Given the description of an element on the screen output the (x, y) to click on. 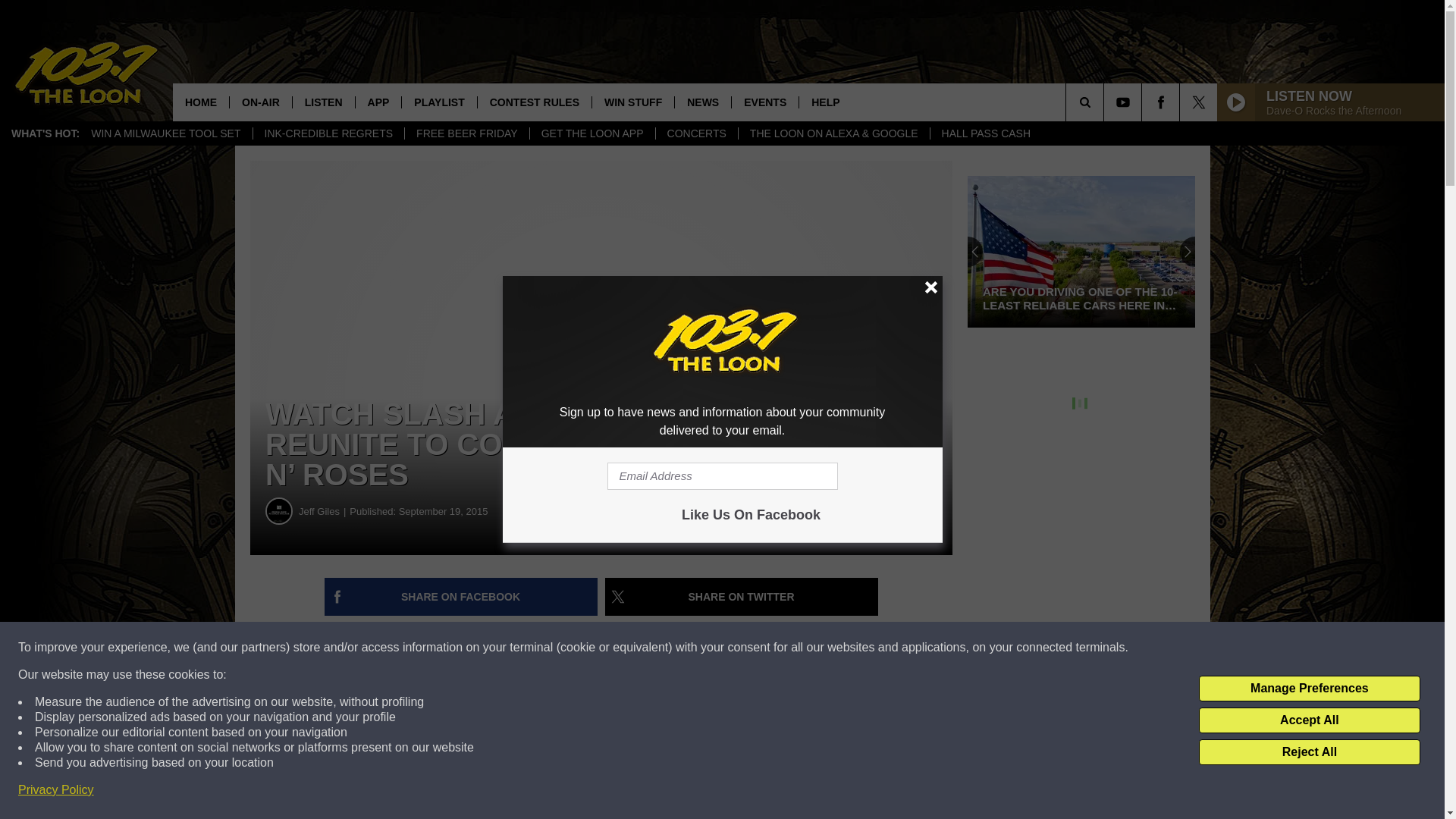
Share on Twitter (741, 596)
HALL PASS CASH (986, 133)
ON-AIR (260, 102)
Manage Preferences (1309, 688)
Reject All (1309, 751)
WIN A MILWAUKEE TOOL SET (165, 133)
Privacy Policy (55, 789)
SEARCH (1106, 102)
FREE BEER FRIDAY (466, 133)
GET THE LOON APP (592, 133)
APP (378, 102)
Email Address (722, 475)
PLAYLIST (438, 102)
HOME (200, 102)
CONCERTS (696, 133)
